Given the description of an element on the screen output the (x, y) to click on. 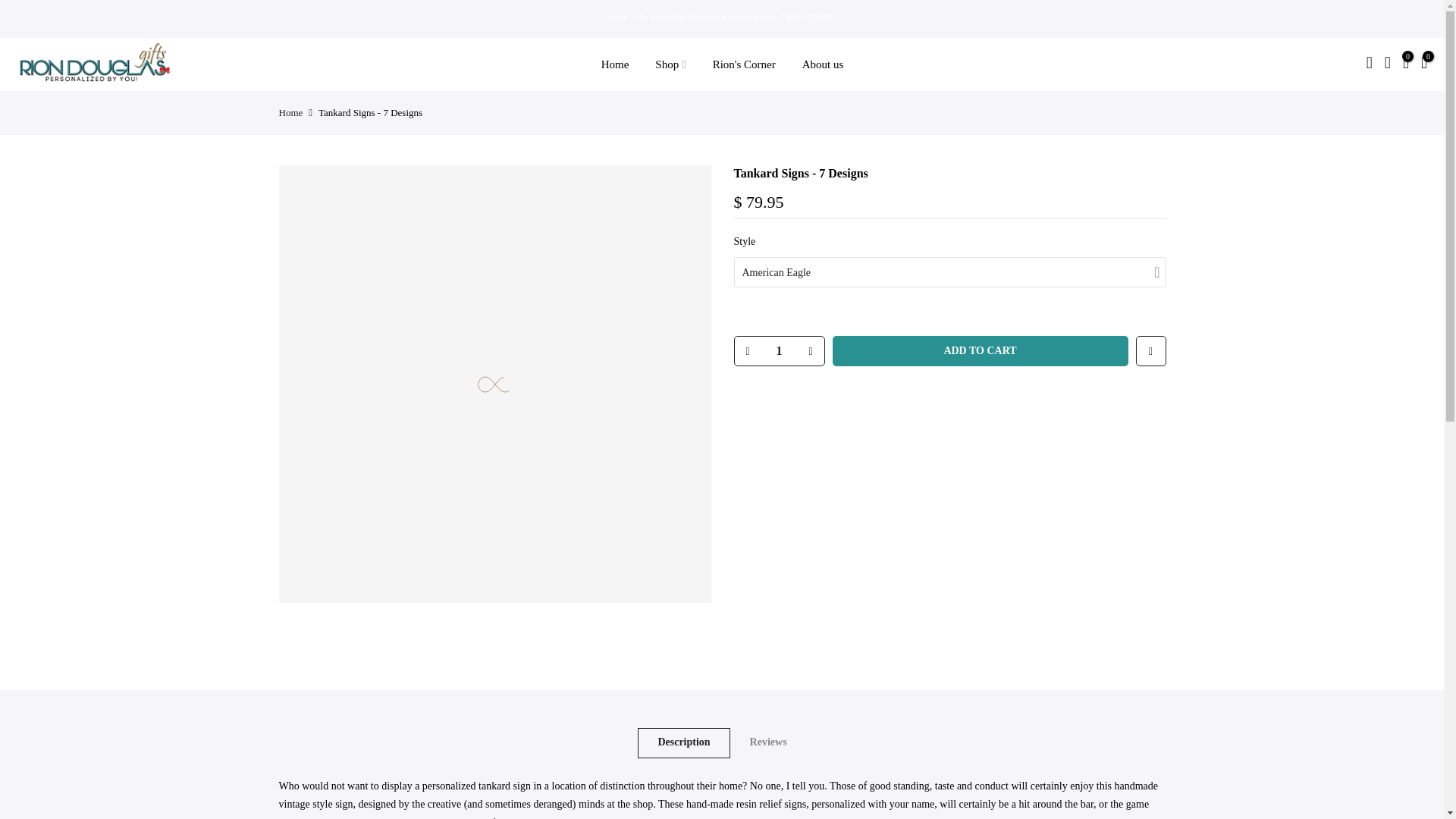
Shop (670, 63)
Home (615, 63)
1 (778, 350)
ADD TO CART (980, 350)
Home (290, 112)
Reviews (768, 743)
Rion's Corner (743, 63)
About us (823, 63)
0 (1405, 64)
Description (683, 743)
